Given the description of an element on the screen output the (x, y) to click on. 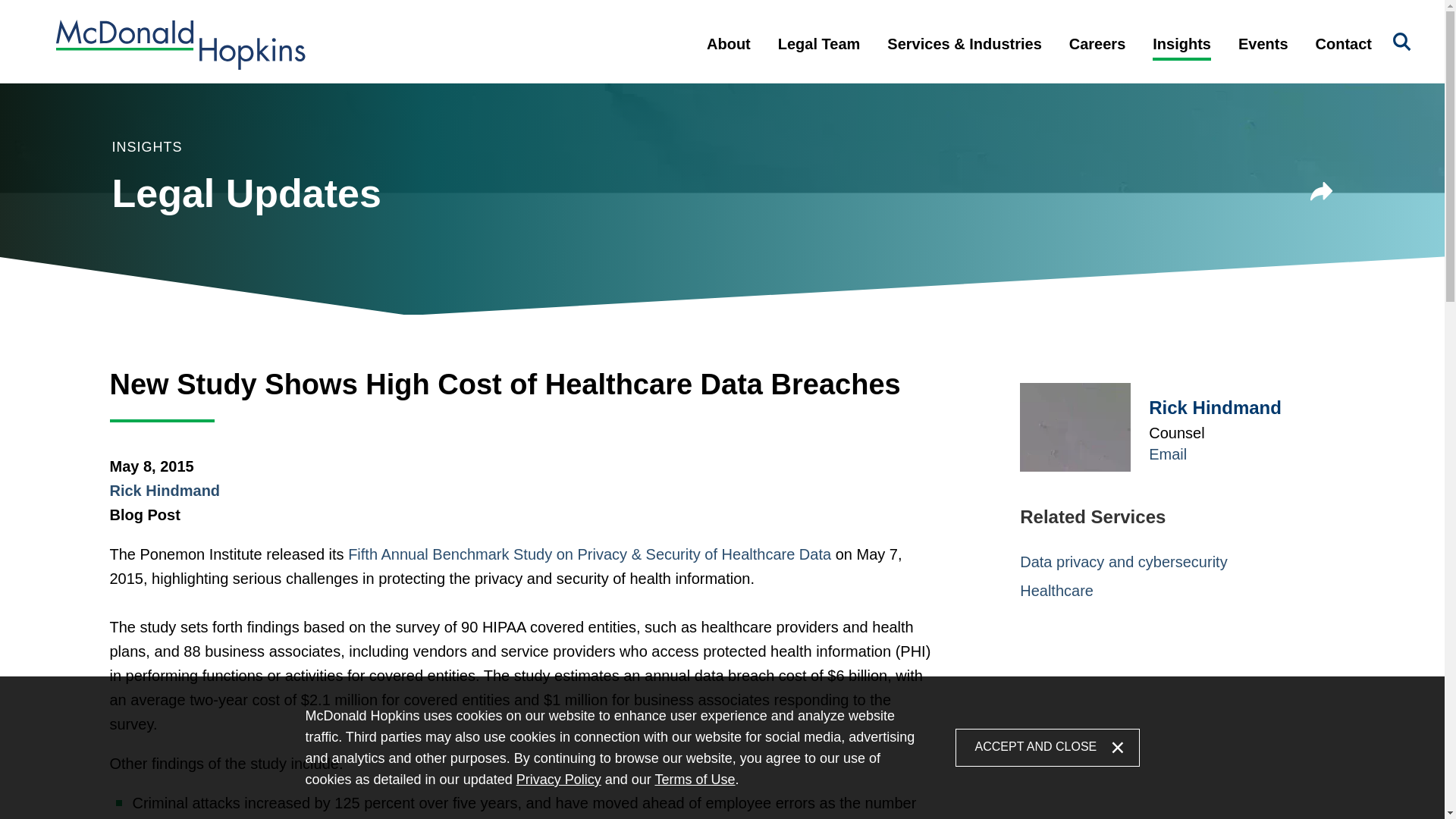
Events (1262, 55)
Menu (673, 20)
Careers (1097, 55)
Main Content (666, 20)
About (728, 55)
Search (1401, 41)
Share (1321, 194)
Main Menu (673, 20)
Insights (1181, 55)
Share (1321, 190)
Legal Team (819, 55)
Contact (1343, 55)
Share (1321, 194)
